Given the description of an element on the screen output the (x, y) to click on. 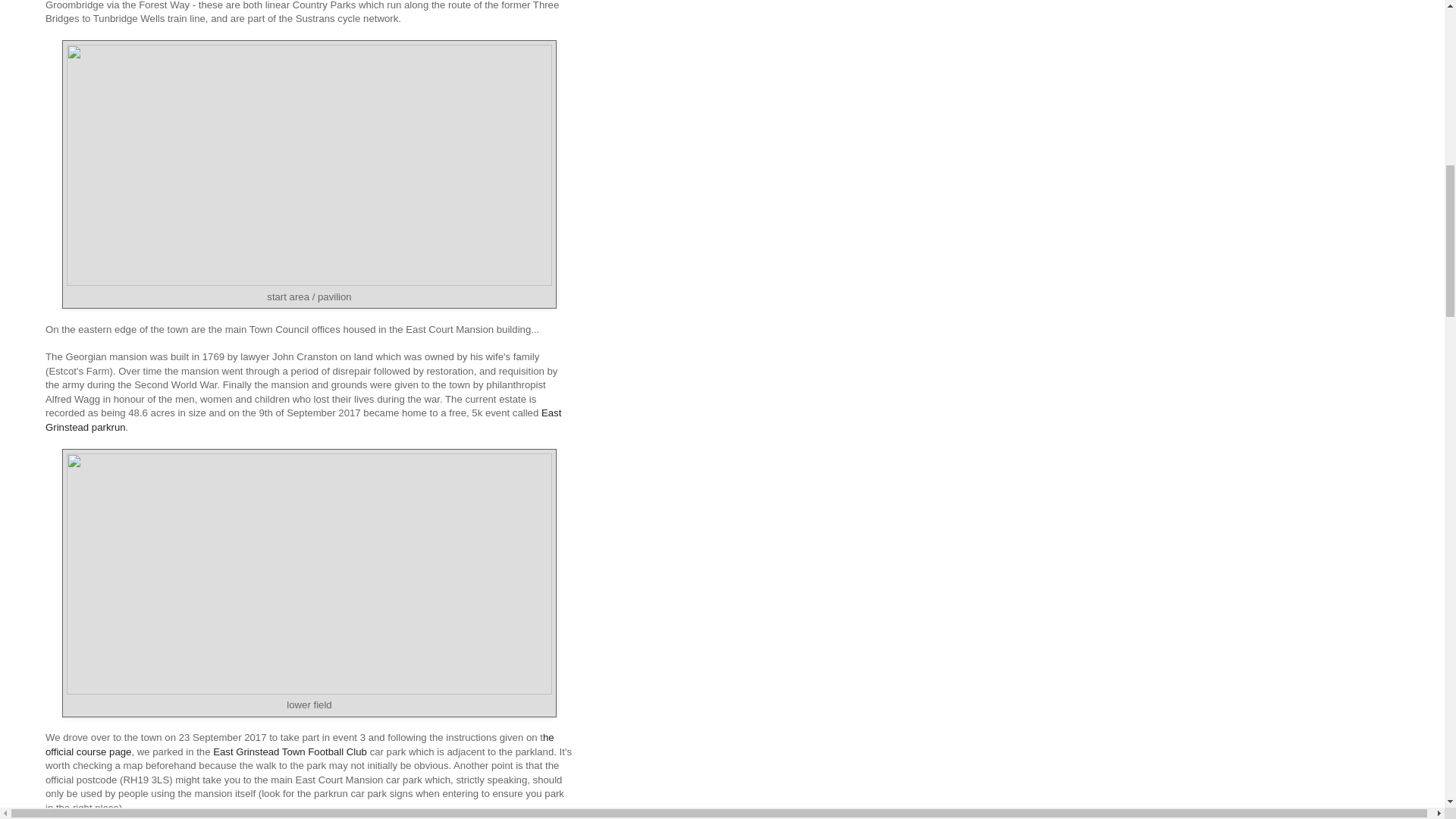
he official course page (299, 744)
East Grinstead Town Football Club (289, 751)
East Grinstead parkrun (302, 419)
